Given the description of an element on the screen output the (x, y) to click on. 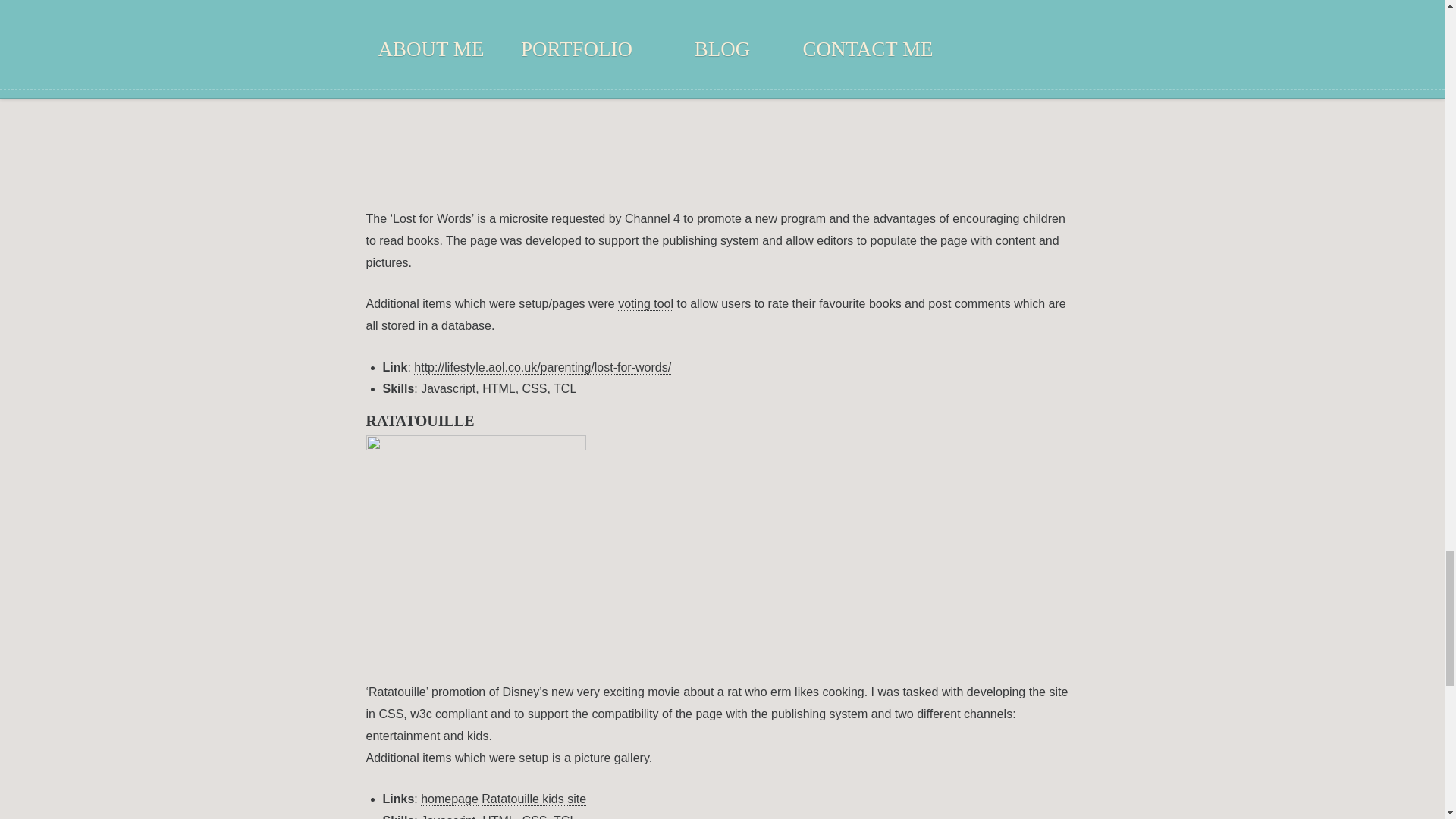
Ratatouille kids site (533, 798)
voting tool (644, 304)
homepage (449, 798)
childrens book rating tool (644, 304)
